Given the description of an element on the screen output the (x, y) to click on. 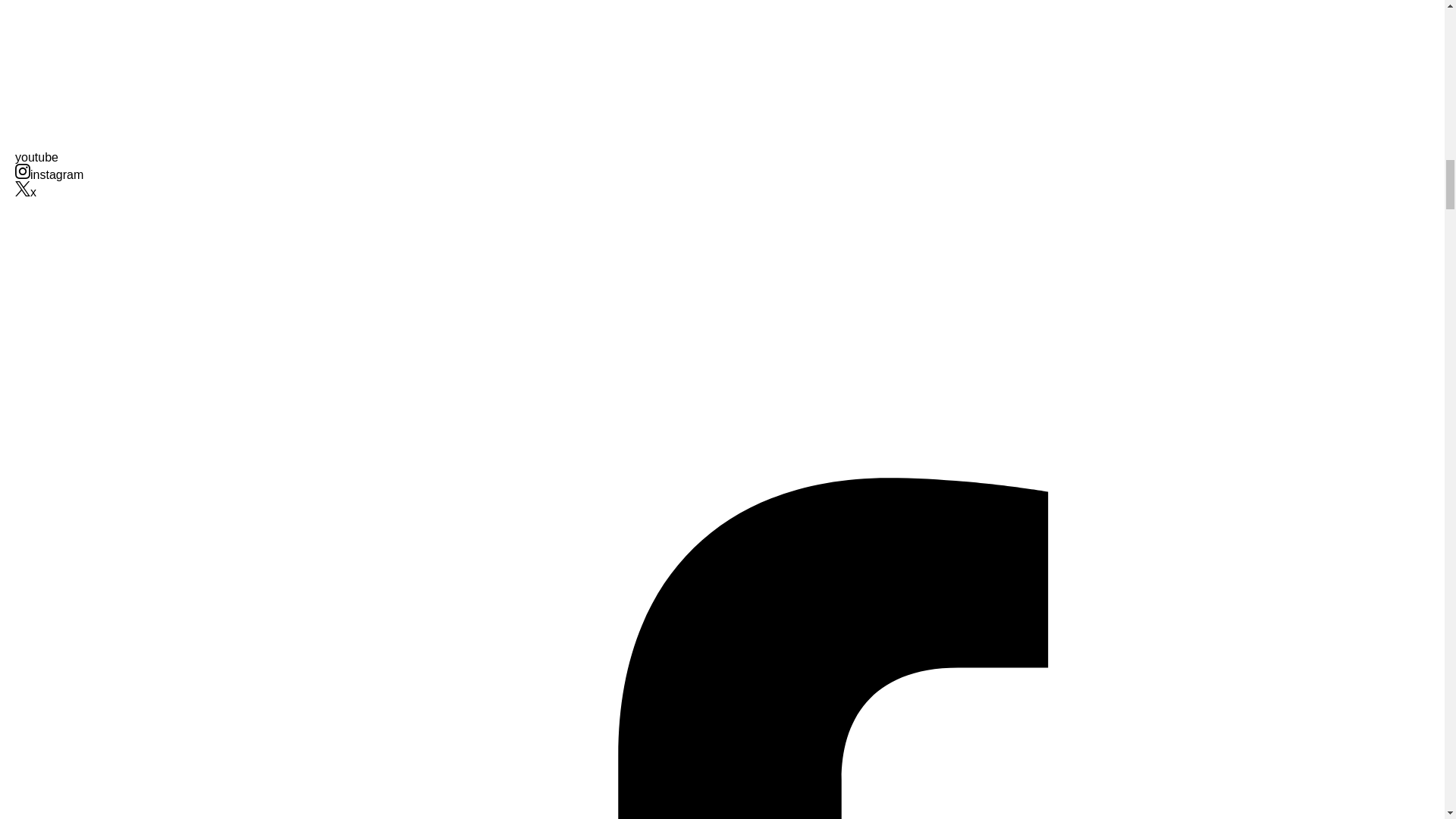
Instagram Navigation Icon (22, 171)
Instagram Navigation Iconinstagram (48, 174)
Twitter Navigation Icon (22, 188)
Twitter Navigation Iconx (25, 192)
